Given the description of an element on the screen output the (x, y) to click on. 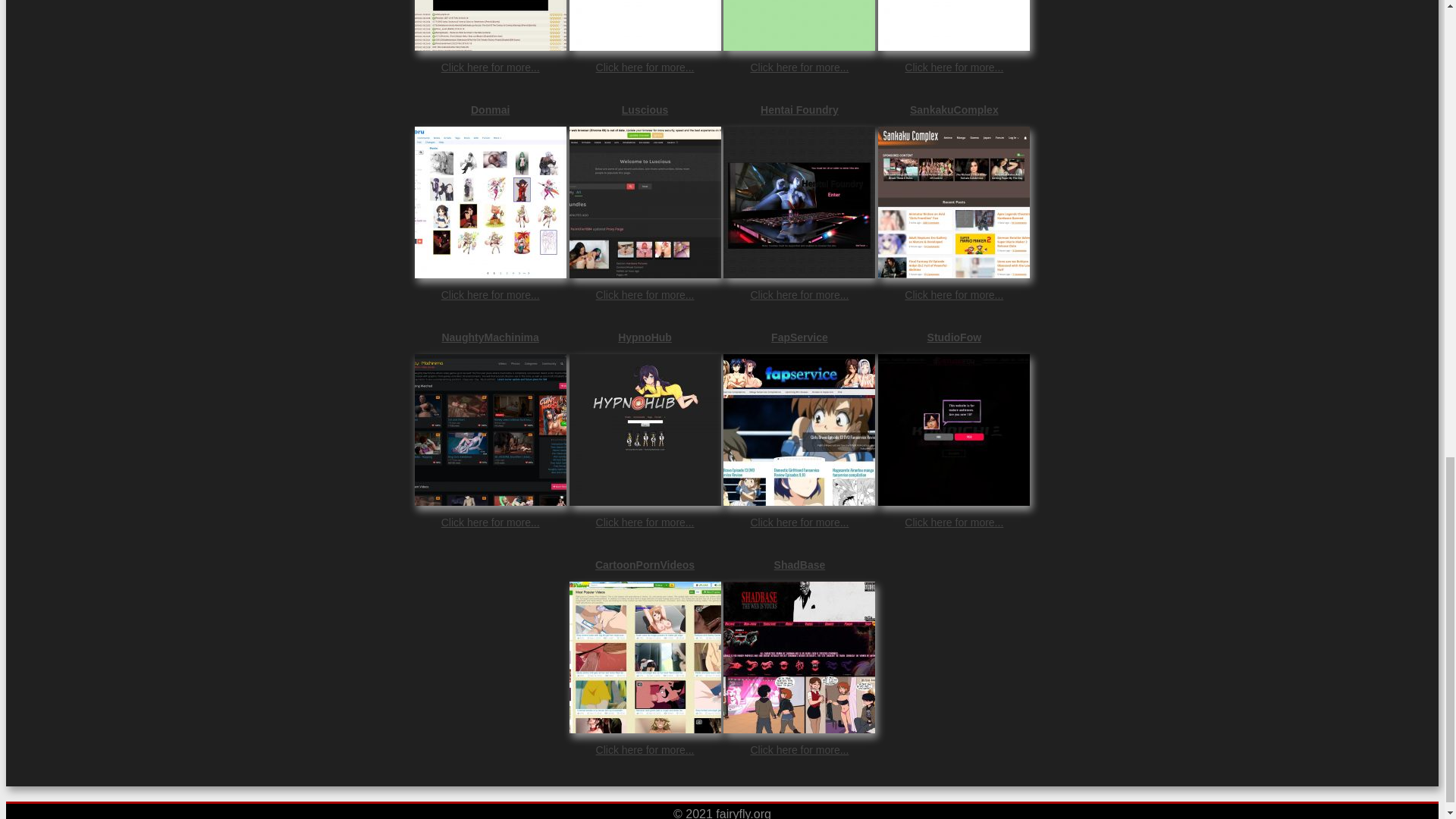
HypnoHub (644, 337)
Donmai (490, 110)
SankakuComplex (953, 110)
Hentai Foundry (799, 110)
Click here for more... (644, 522)
Click here for more... (953, 295)
Click here for more... (644, 295)
Luscious (644, 110)
Click here for more... (798, 522)
Click here for more... (644, 67)
Click here for more... (490, 522)
Click here for more... (798, 67)
Click here for more... (490, 67)
Click here for more... (490, 295)
Click here for more... (953, 67)
